Given the description of an element on the screen output the (x, y) to click on. 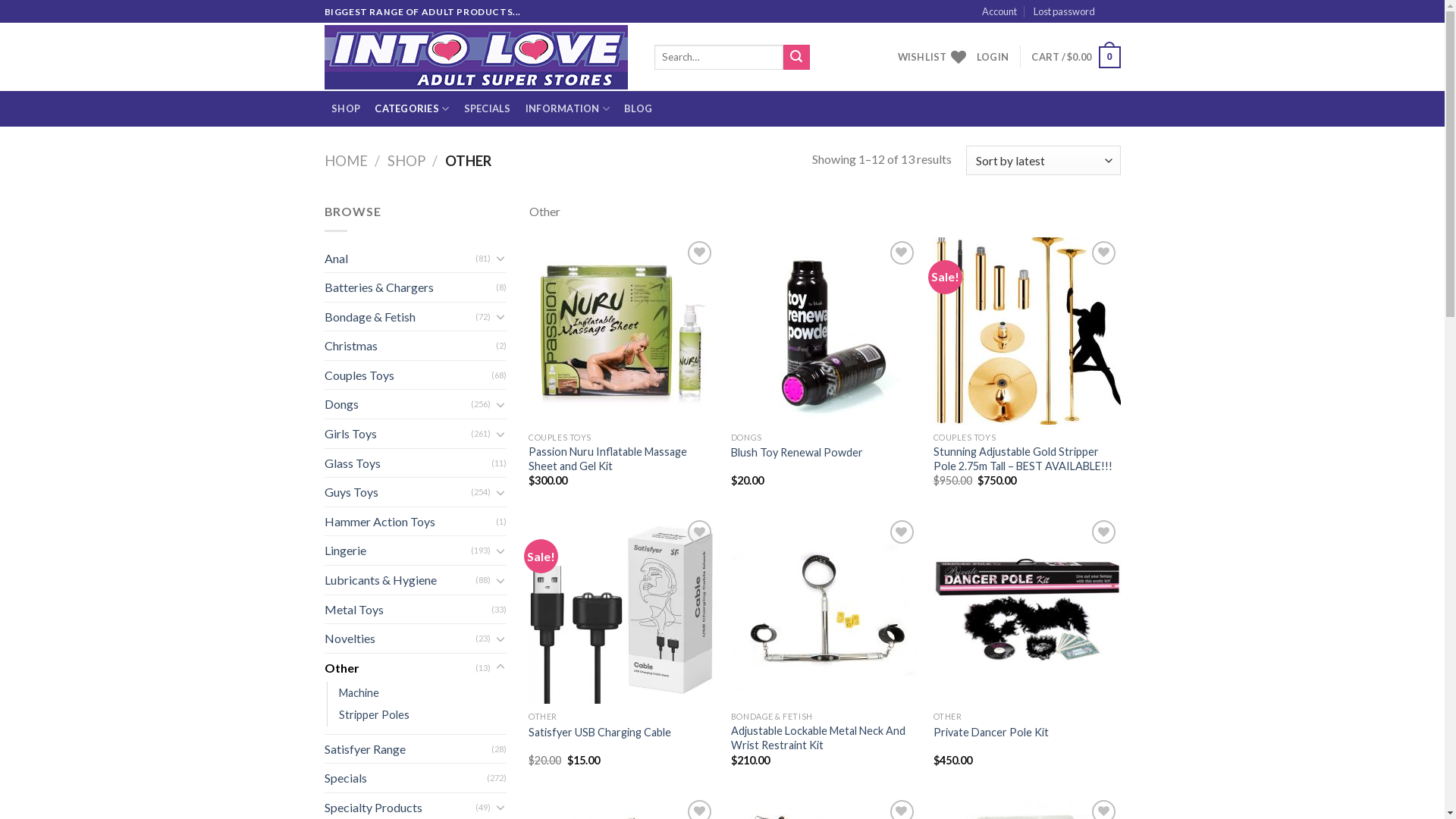
Glass Toys Element type: text (407, 462)
Private Dancer Pole Kit Element type: text (990, 732)
Machine Element type: text (358, 692)
Novelties Element type: text (399, 638)
WISHLIST Element type: text (931, 56)
Into Love - adult shop Element type: hover (477, 57)
Other Element type: text (399, 667)
Hammer Action Toys Element type: text (409, 521)
Christmas Element type: text (409, 345)
Account Element type: text (999, 11)
Satisfyer Range Element type: text (407, 748)
Stripper Poles Element type: text (373, 714)
CART / $0.00
0 Element type: text (1075, 57)
HOME Element type: text (345, 160)
SHOP Element type: text (406, 160)
Metal Toys Element type: text (407, 609)
Bondage & Fetish Element type: text (399, 316)
Satisfyer USB Charging Cable Element type: text (599, 732)
Girls Toys Element type: text (397, 433)
INFORMATION Element type: text (566, 108)
Anal Element type: text (399, 258)
Search Element type: text (796, 57)
Guys Toys Element type: text (397, 491)
Dongs Element type: text (397, 403)
SHOP Element type: text (345, 108)
Couples Toys Element type: text (407, 374)
CATEGORIES Element type: text (411, 108)
Blush Toy Renewal Powder Element type: text (796, 452)
SPECIALS Element type: text (486, 108)
Batteries & Chargers Element type: text (409, 287)
Lubricants & Hygiene Element type: text (399, 579)
Passion Nuru Inflatable Massage Sheet and Gel Kit Element type: text (621, 459)
Specials Element type: text (405, 777)
Adjustable Lockable Metal Neck And Wrist Restraint Kit Element type: text (824, 738)
Lingerie Element type: text (397, 550)
Lost password Element type: text (1064, 11)
BLOG Element type: text (638, 108)
LOGIN Element type: text (992, 56)
